Given the description of an element on the screen output the (x, y) to click on. 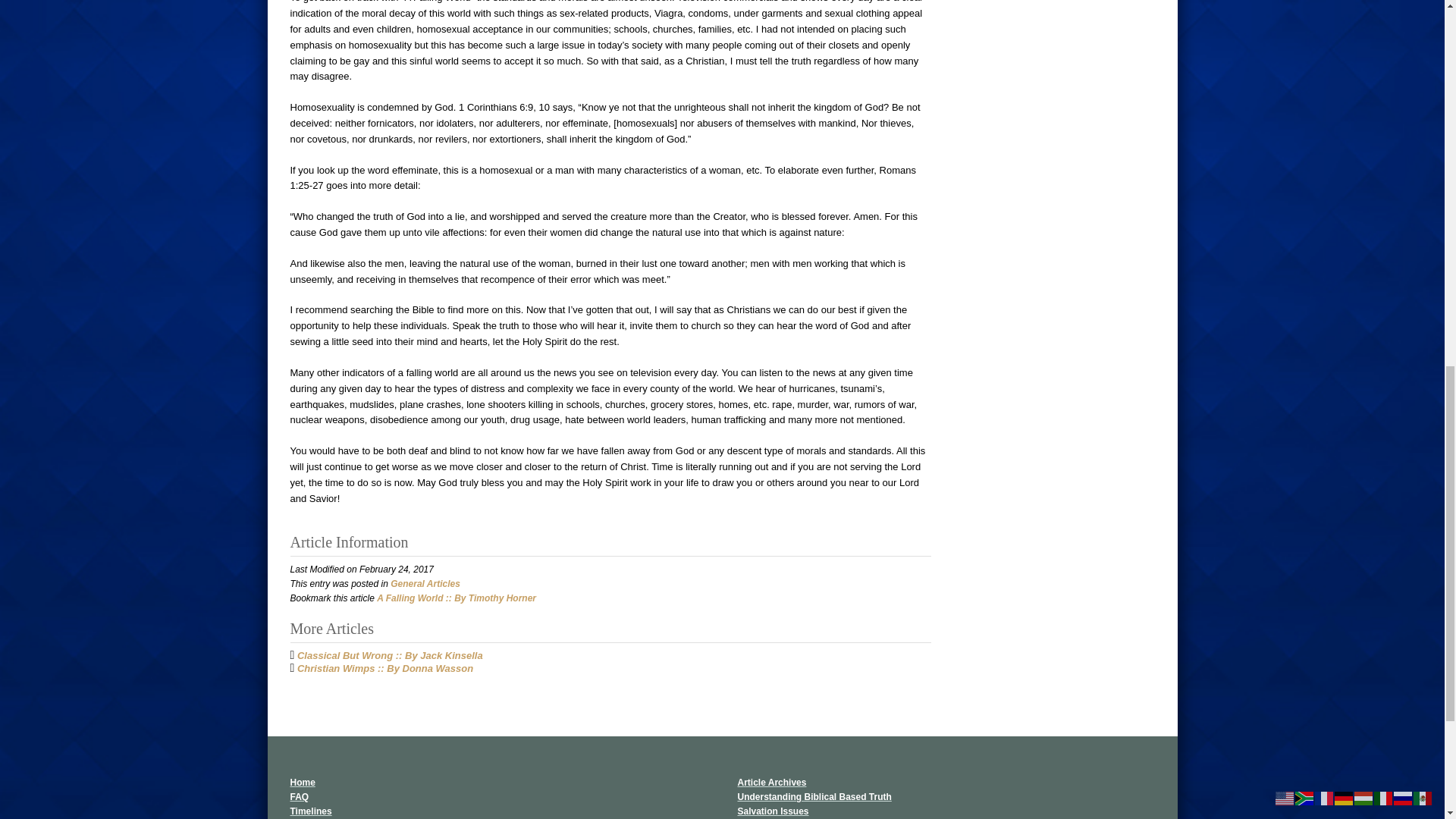
Home (301, 782)
A Falling World :: By Timothy Horner (456, 597)
Christian Wimps :: By Donna Wasson (385, 668)
Classical But Wrong :: By Jack Kinsella (390, 655)
General Articles (425, 583)
Salvation Issues (772, 810)
Article Archives (771, 782)
FAQ (298, 796)
Timelines (310, 810)
Understanding Biblical Based Truth (813, 796)
